Given the description of an element on the screen output the (x, y) to click on. 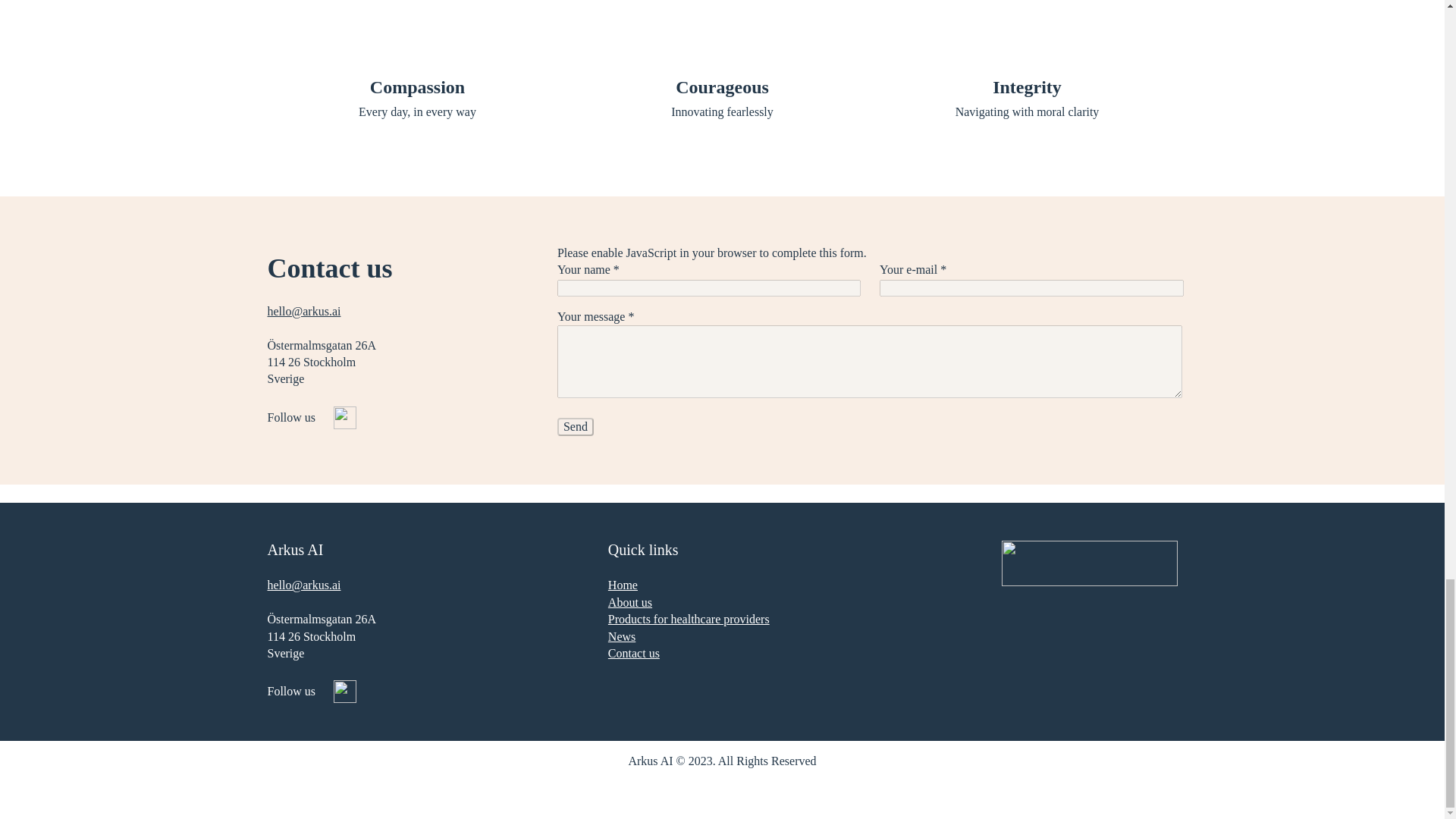
Products for healthcare providers (689, 618)
Contact us (633, 653)
News (621, 635)
About us (630, 602)
Send (575, 426)
Home (622, 584)
